Given the description of an element on the screen output the (x, y) to click on. 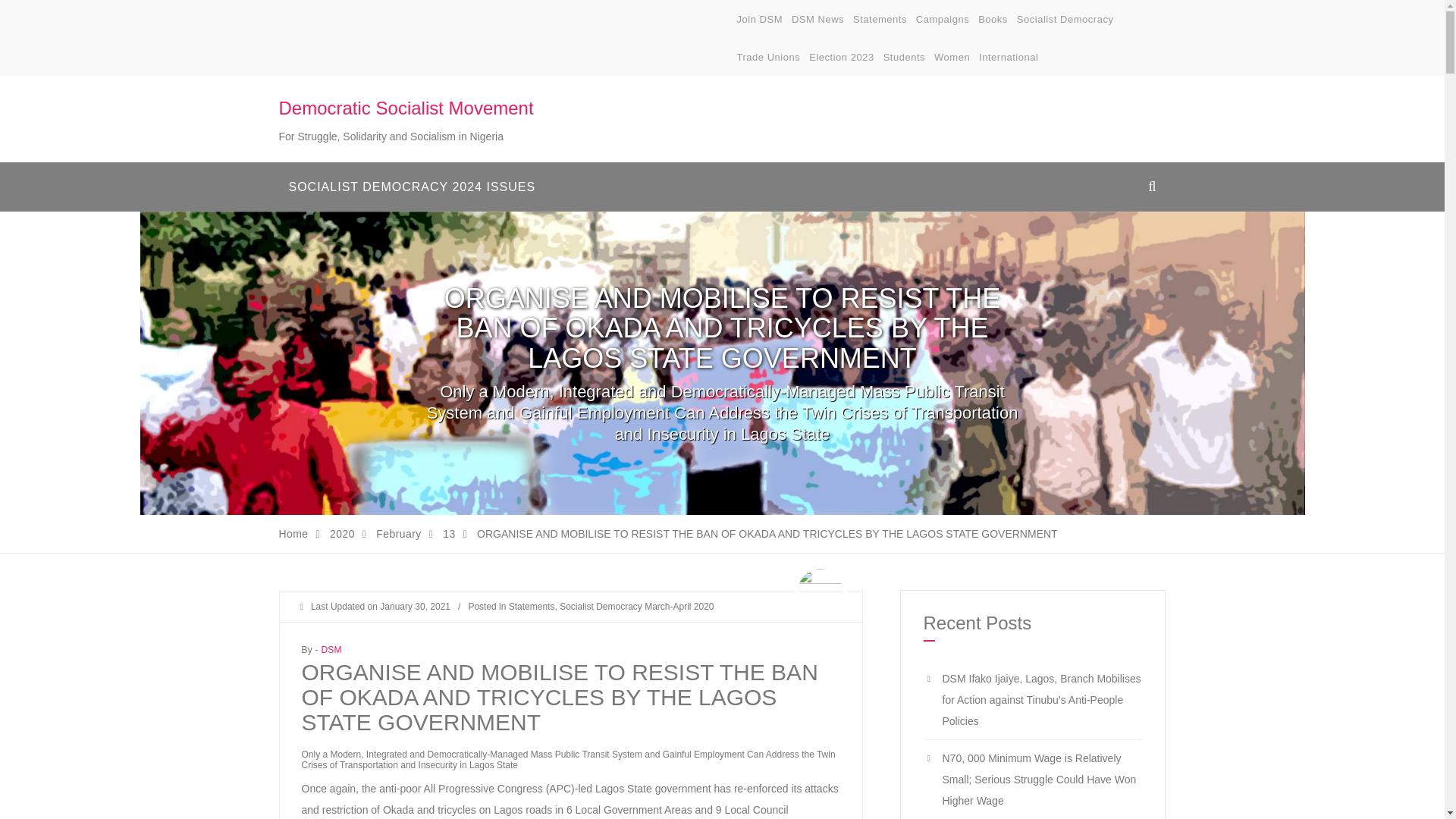
13 (448, 533)
DSM News (818, 19)
Socialist Democracy (1064, 19)
Books (992, 19)
Women (951, 57)
Trade Unions (768, 57)
Democratic Socialist Movement (406, 107)
Socialist Democracy 2024 issues (412, 186)
Statements (531, 606)
Statements (880, 19)
Home (293, 533)
Socialist Democracy March-April 2020 (636, 606)
Election 2023 (842, 57)
2020 (342, 533)
